Given the description of an element on the screen output the (x, y) to click on. 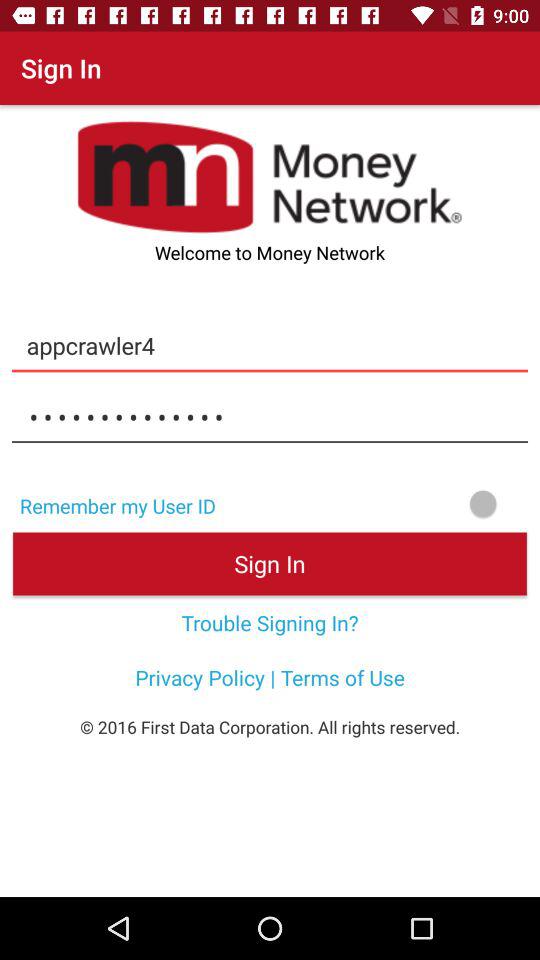
toggle to remember user id (384, 503)
